Given the description of an element on the screen output the (x, y) to click on. 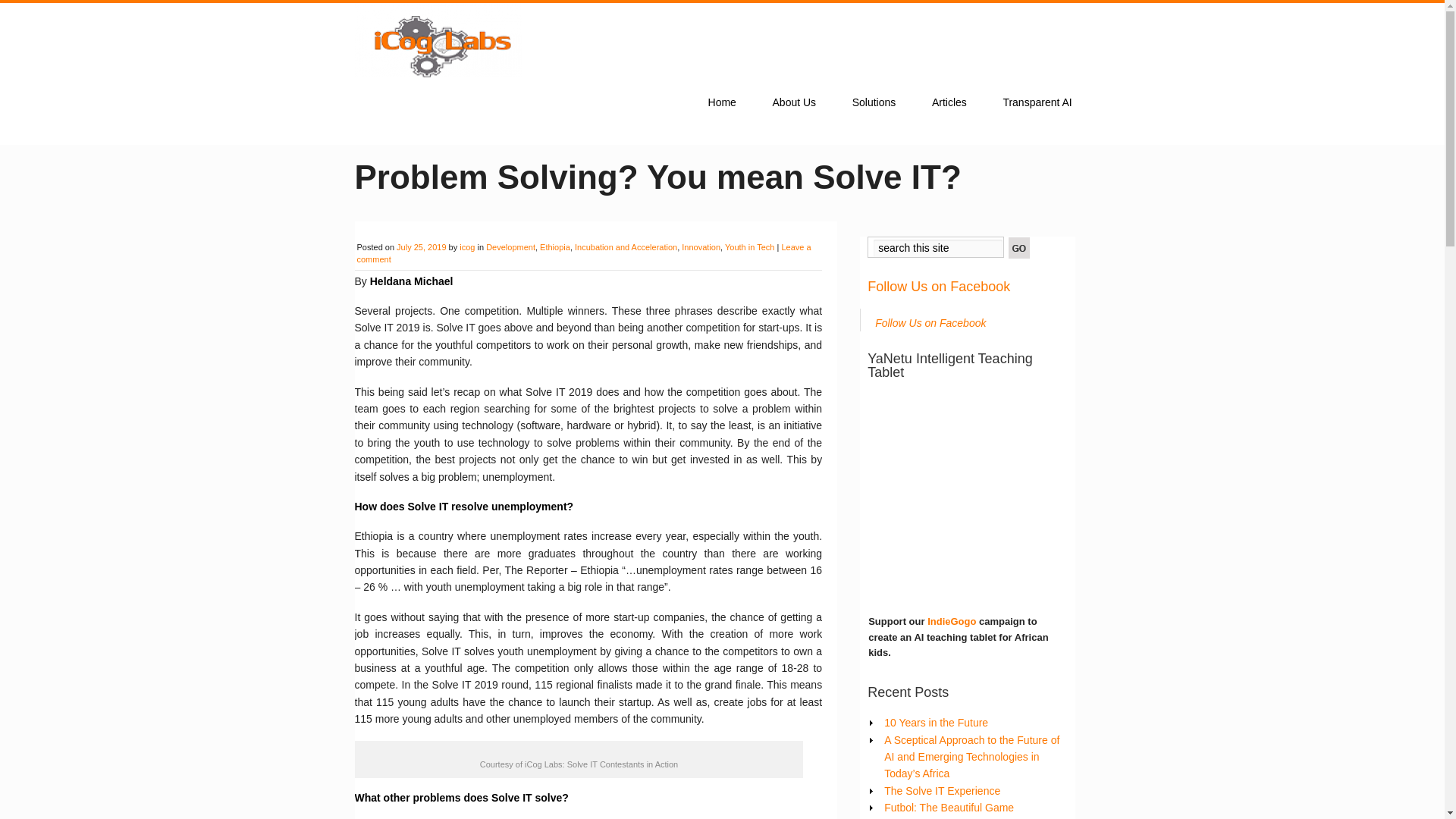
Youth in Tech (749, 246)
iCog Labs (438, 73)
View all posts by icog (467, 246)
Ethiopia (555, 246)
July 25, 2019 (420, 246)
Innovation (700, 246)
About Us (794, 102)
Solutions (874, 102)
12:32 (420, 246)
Transparent AI (1037, 102)
Home (722, 102)
Articles (949, 102)
Development (510, 246)
Incubation and Acceleration (626, 246)
search this site (938, 248)
